Given the description of an element on the screen output the (x, y) to click on. 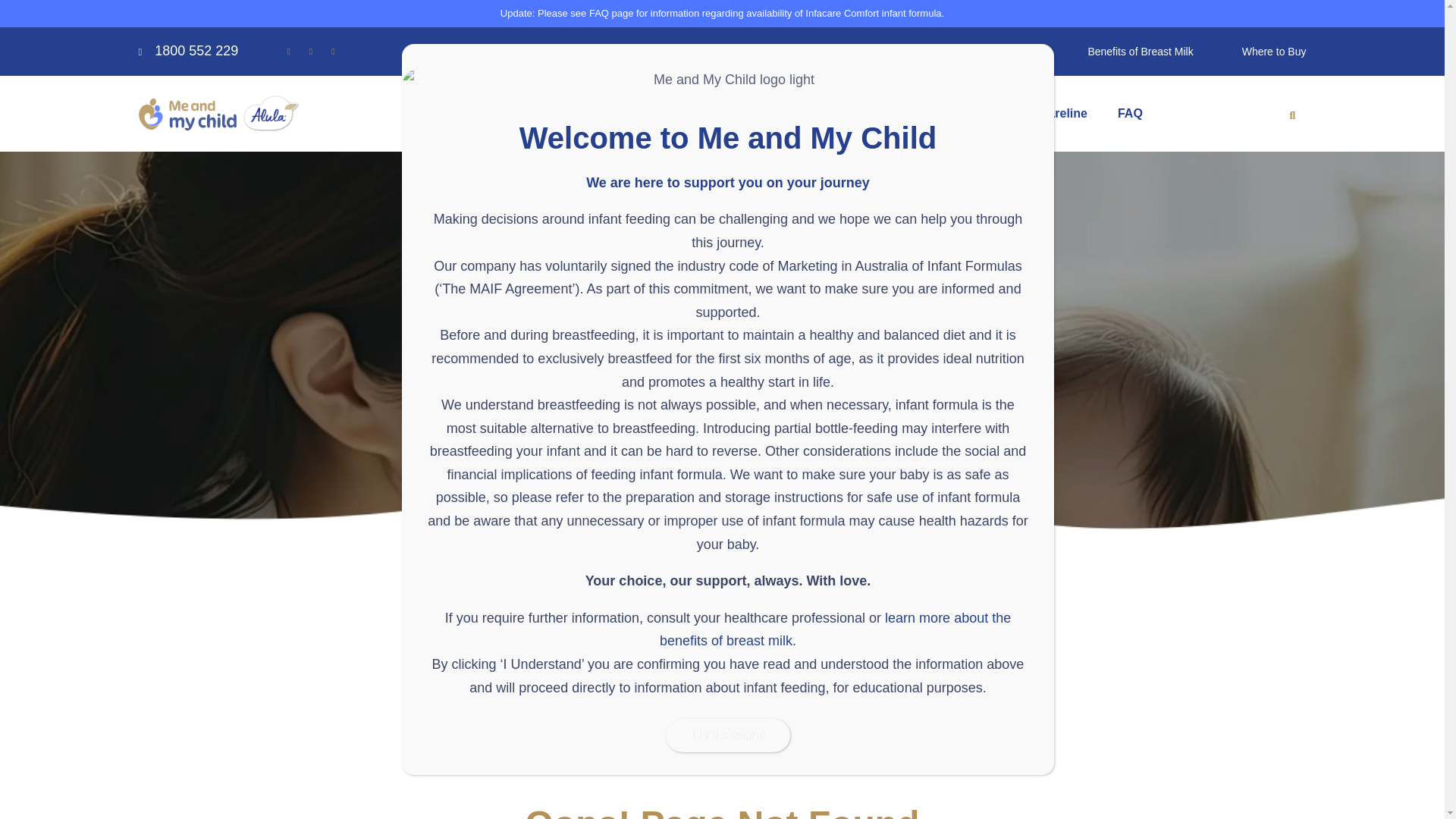
Alula Products (531, 113)
Benefits of Breast Milk (1139, 51)
Parent Support (658, 113)
Where to Buy (1273, 51)
1800 552 229 (188, 50)
Benefits of Breast Milk (1139, 51)
1800 552 229 (188, 50)
FAQ page (611, 12)
Go to Home. (702, 355)
Where to Buy (1273, 51)
